Given the description of an element on the screen output the (x, y) to click on. 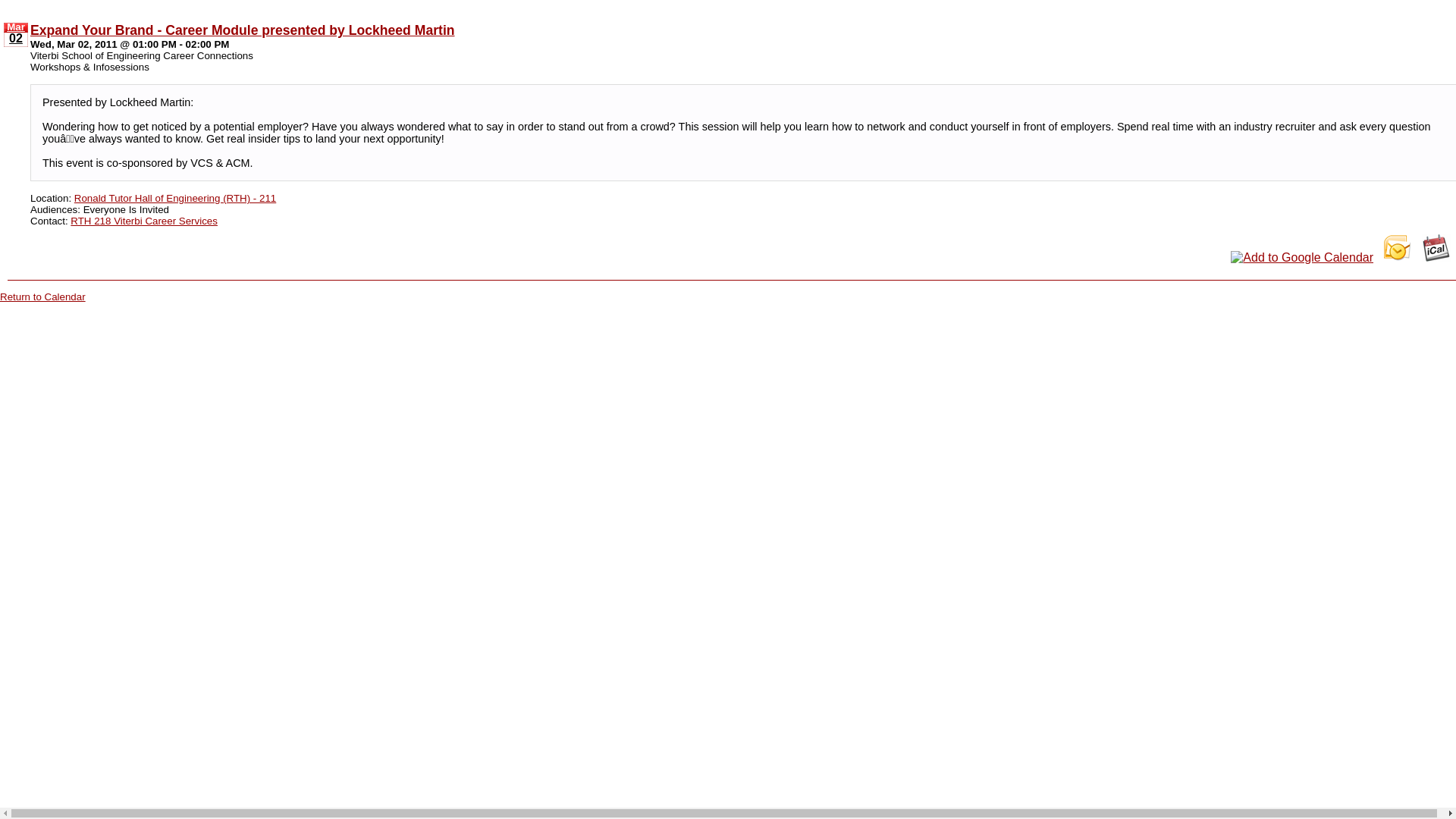
Send Email to  RTH 218 Viterbi Career Services (142, 219)
Mar (15, 26)
02 (15, 38)
RTH 218 Viterbi Career Services (142, 219)
